Given the description of an element on the screen output the (x, y) to click on. 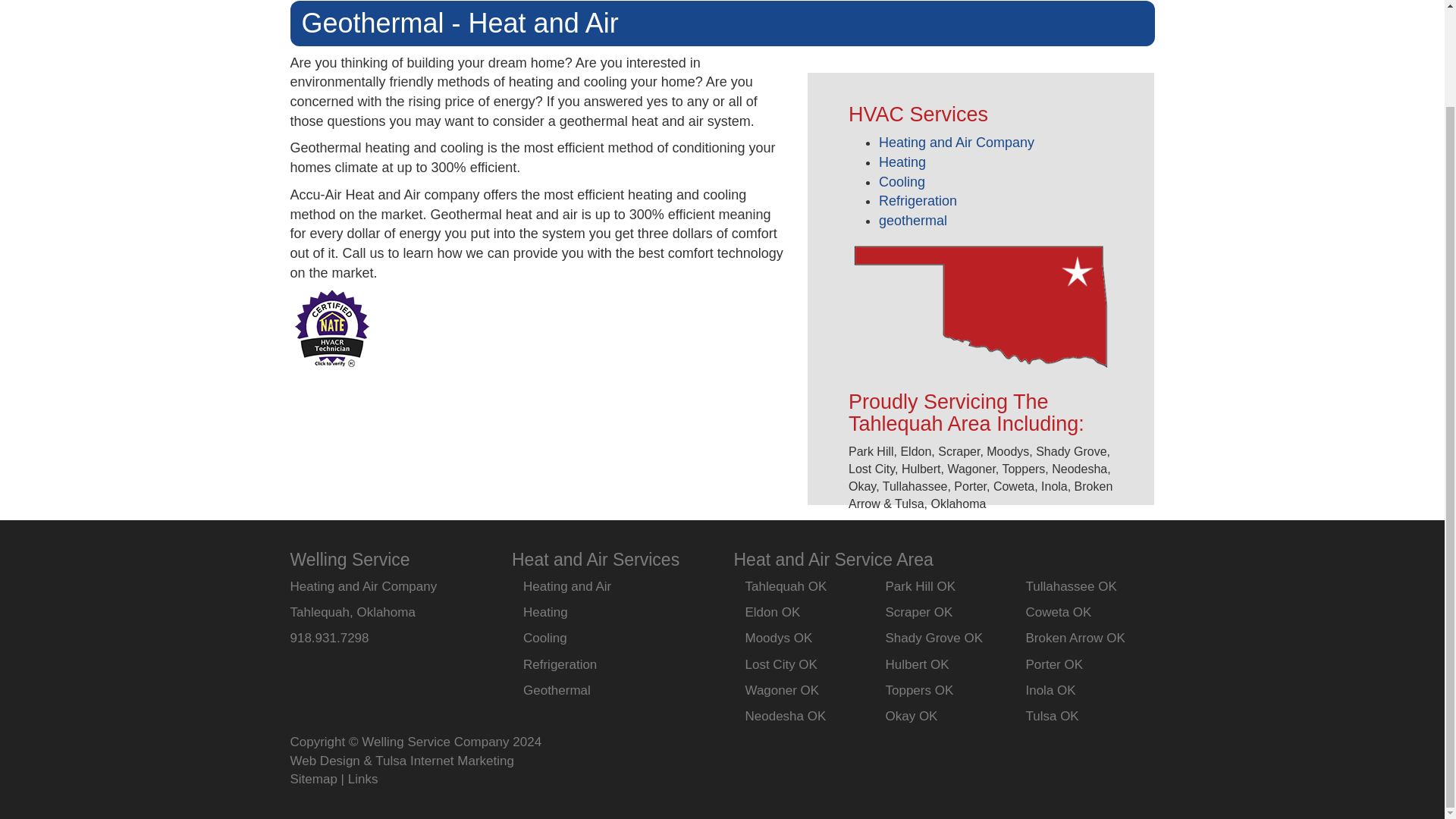
Heating and Air Company (362, 586)
Cooling (544, 637)
Refrigeration (917, 200)
Sitemap (312, 779)
Cooling (901, 181)
Heating (902, 161)
Links (362, 779)
geothermal (913, 220)
Heating and Air (566, 586)
Geothermal (556, 690)
Heating (544, 612)
Refrigeration (559, 664)
Heating and Air Company (956, 142)
